Given the description of an element on the screen output the (x, y) to click on. 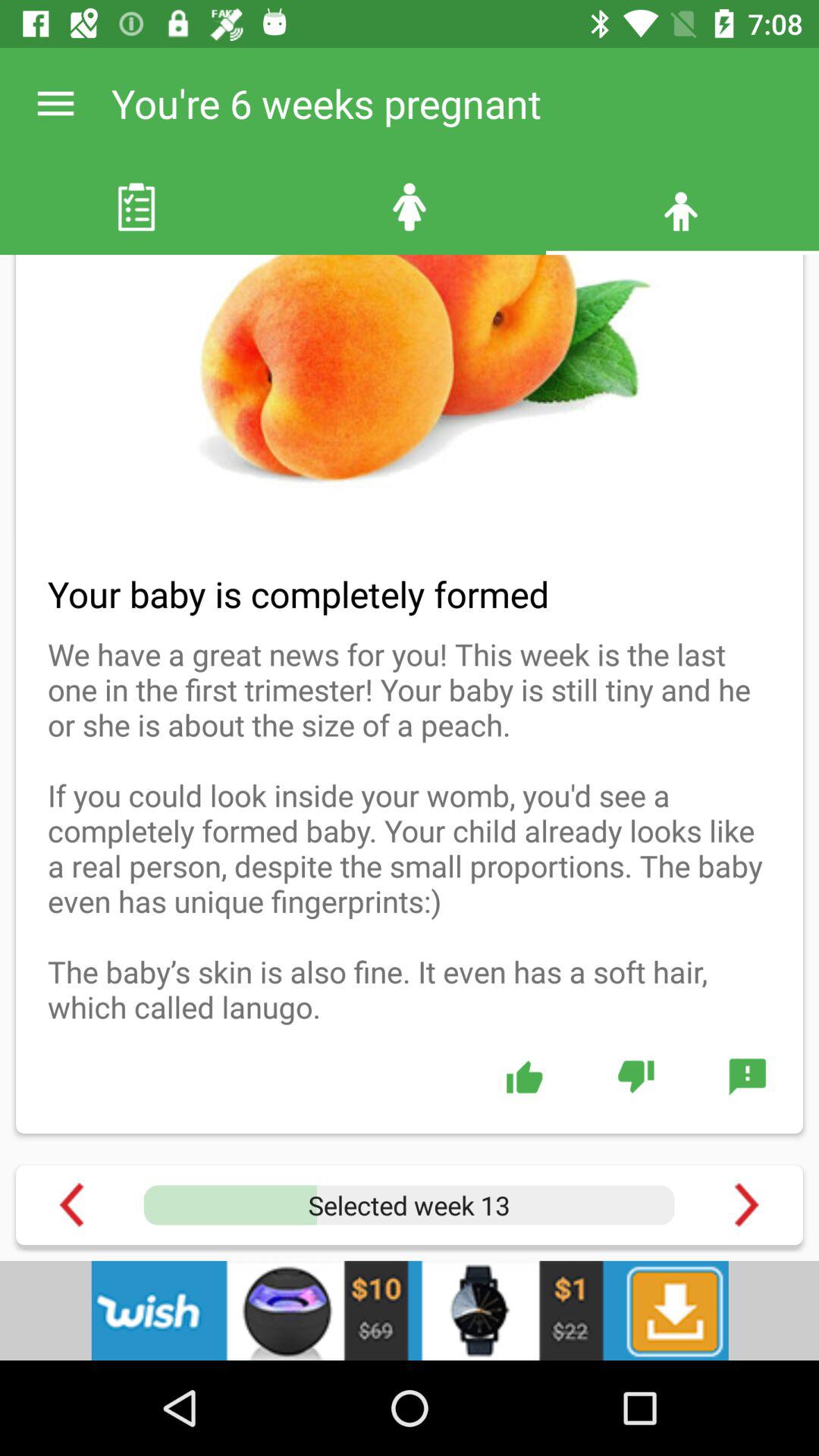
rite pega (524, 1076)
